Given the description of an element on the screen output the (x, y) to click on. 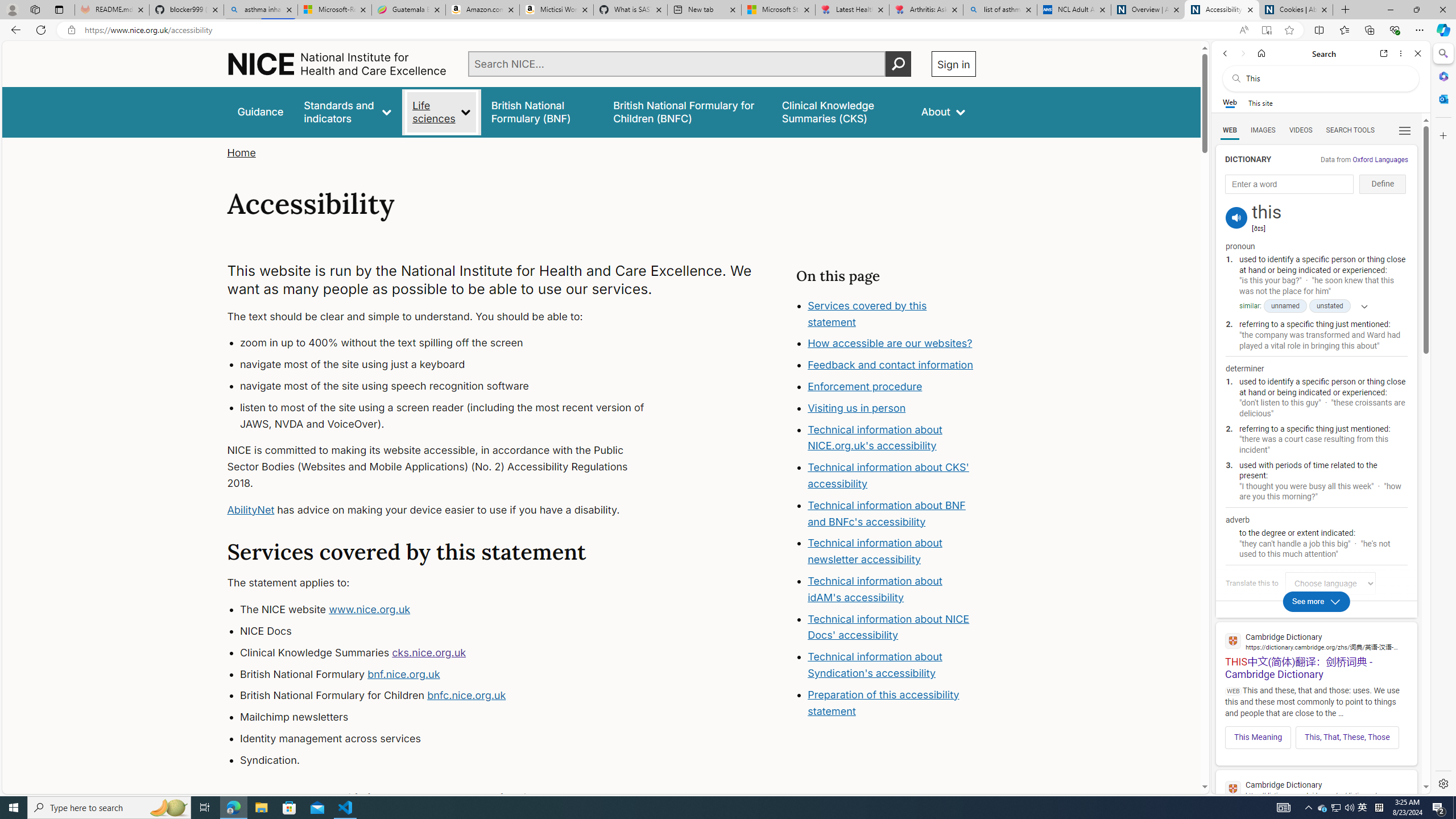
Technical information about CKS' accessibility (888, 475)
unnamed (1285, 305)
Technical information about Syndication's accessibility (875, 664)
This Meaning (1258, 737)
bnf.nice.org.uk (402, 673)
Perform search (898, 63)
Technical information about newsletter accessibility (875, 551)
Cambridge Dictionary (1315, 788)
Visiting us in person (856, 407)
Services covered by this statement (891, 313)
